Given the description of an element on the screen output the (x, y) to click on. 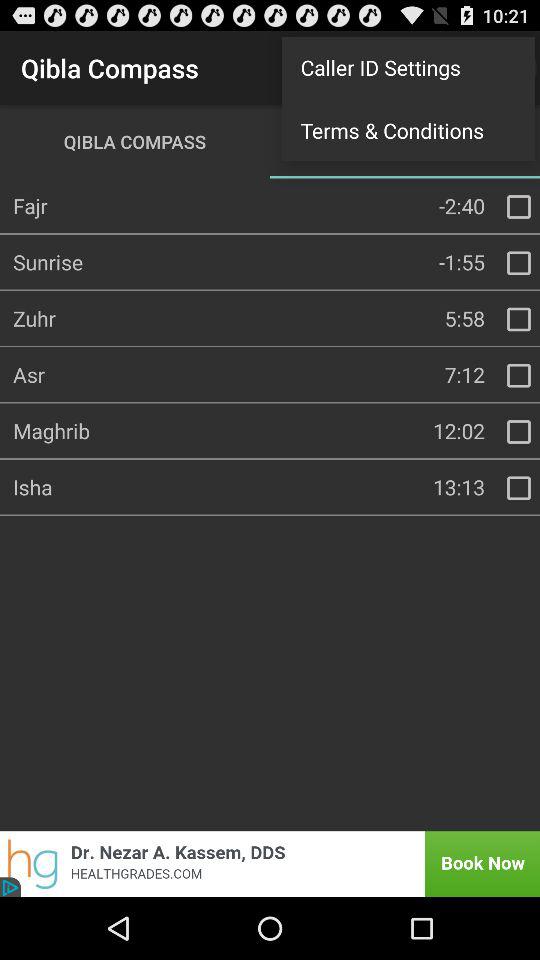
book now (270, 864)
